Given the description of an element on the screen output the (x, y) to click on. 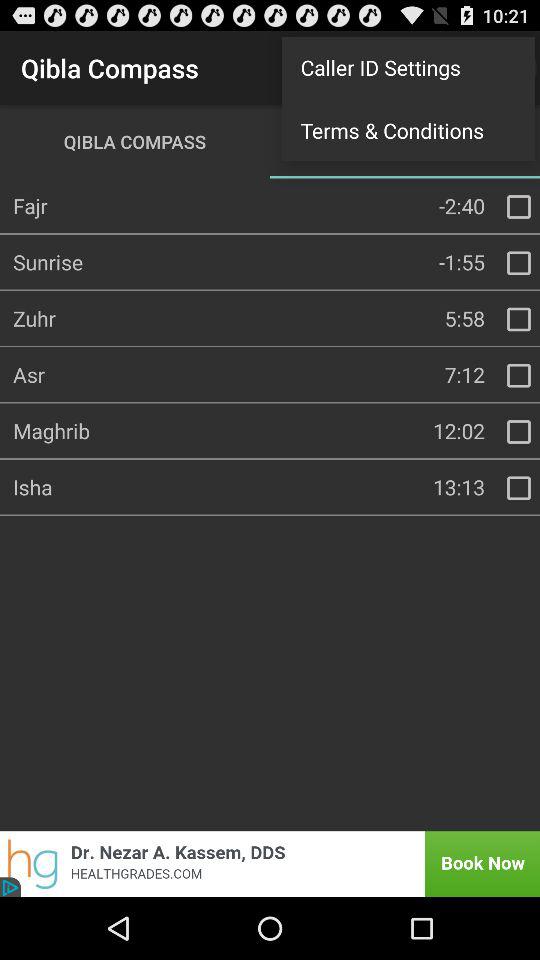
book now (270, 864)
